Given the description of an element on the screen output the (x, y) to click on. 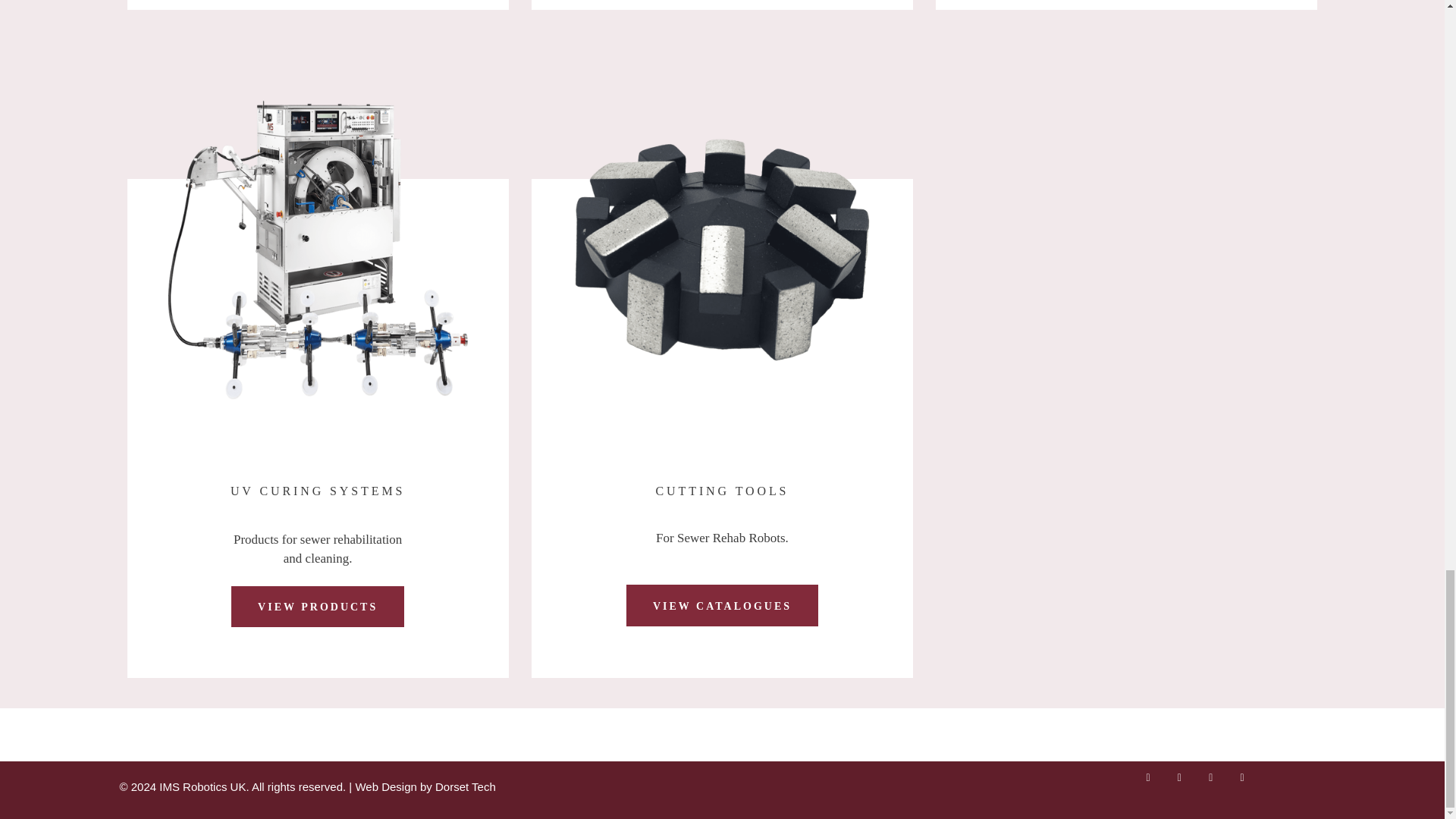
VIEW PRODUCTS (317, 607)
VIEW CATALOGUES (722, 605)
Dorset Tech (465, 786)
